Given the description of an element on the screen output the (x, y) to click on. 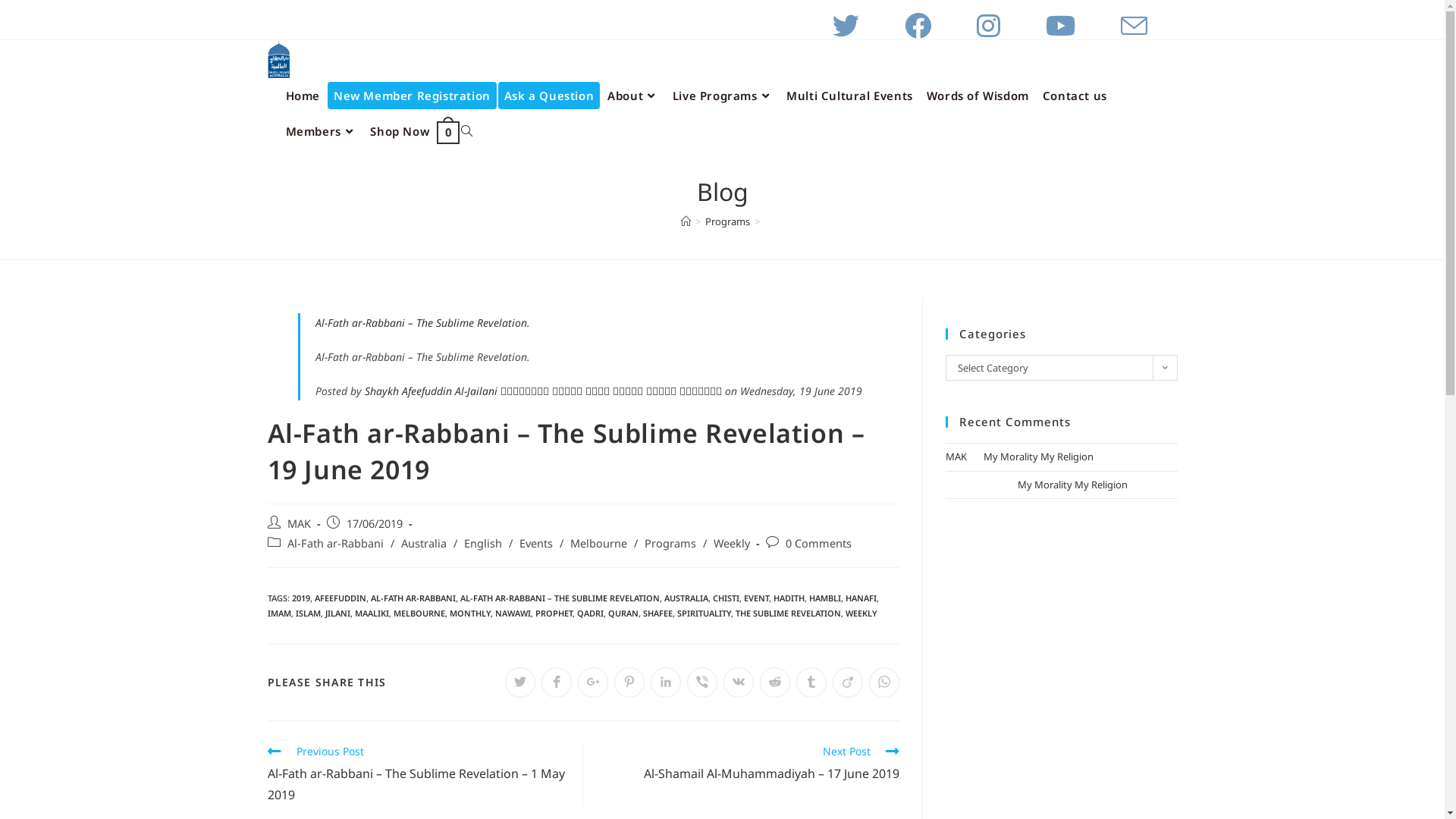
HADITH Element type: text (788, 597)
MELBOURNE Element type: text (418, 612)
AL-FATH AR-RABBANI Element type: text (412, 597)
Events Element type: text (535, 542)
Contact us Element type: text (1074, 95)
0 Element type: text (448, 131)
QADRI Element type: text (589, 612)
About Element type: text (632, 95)
My Morality My Religion Element type: text (1037, 456)
Live Programs Element type: text (722, 95)
SPIRITUALITY Element type: text (703, 612)
HAMBLI Element type: text (824, 597)
MONTHLY Element type: text (468, 612)
Al-Fath ar-Rabbani Element type: text (334, 542)
HANAFI Element type: text (859, 597)
Home Element type: text (302, 95)
My Morality My Religion Element type: text (1072, 484)
EVENT Element type: text (755, 597)
Australia Element type: text (422, 542)
WEEKLY Element type: text (860, 612)
0 Comments Element type: text (818, 542)
CHISTI Element type: text (725, 597)
MAK Element type: text (955, 456)
Multi Cultural Events Element type: text (849, 95)
SHAFEE Element type: text (657, 612)
Programs Element type: text (670, 542)
THE SUBLIME REVELATION Element type: text (787, 612)
2019 Element type: text (300, 597)
Programs Element type: text (727, 221)
Melbourne Element type: text (598, 542)
Members Element type: text (321, 131)
MAALIKI Element type: text (371, 612)
AUSTRALIA Element type: text (686, 597)
Ask a Question Element type: text (548, 95)
JILANI Element type: text (336, 612)
Shop Now Element type: text (399, 131)
Words of Wisdom Element type: text (977, 95)
MAK Element type: text (298, 522)
QURAN Element type: text (623, 612)
NAWAWI Element type: text (512, 612)
ISLAM Element type: text (307, 612)
English Element type: text (483, 542)
Weekly Element type: text (730, 542)
IMAM Element type: text (278, 612)
PROPHET Element type: text (553, 612)
New Member Registration Element type: text (411, 95)
AFEEFUDDIN Element type: text (339, 597)
